Given the description of an element on the screen output the (x, y) to click on. 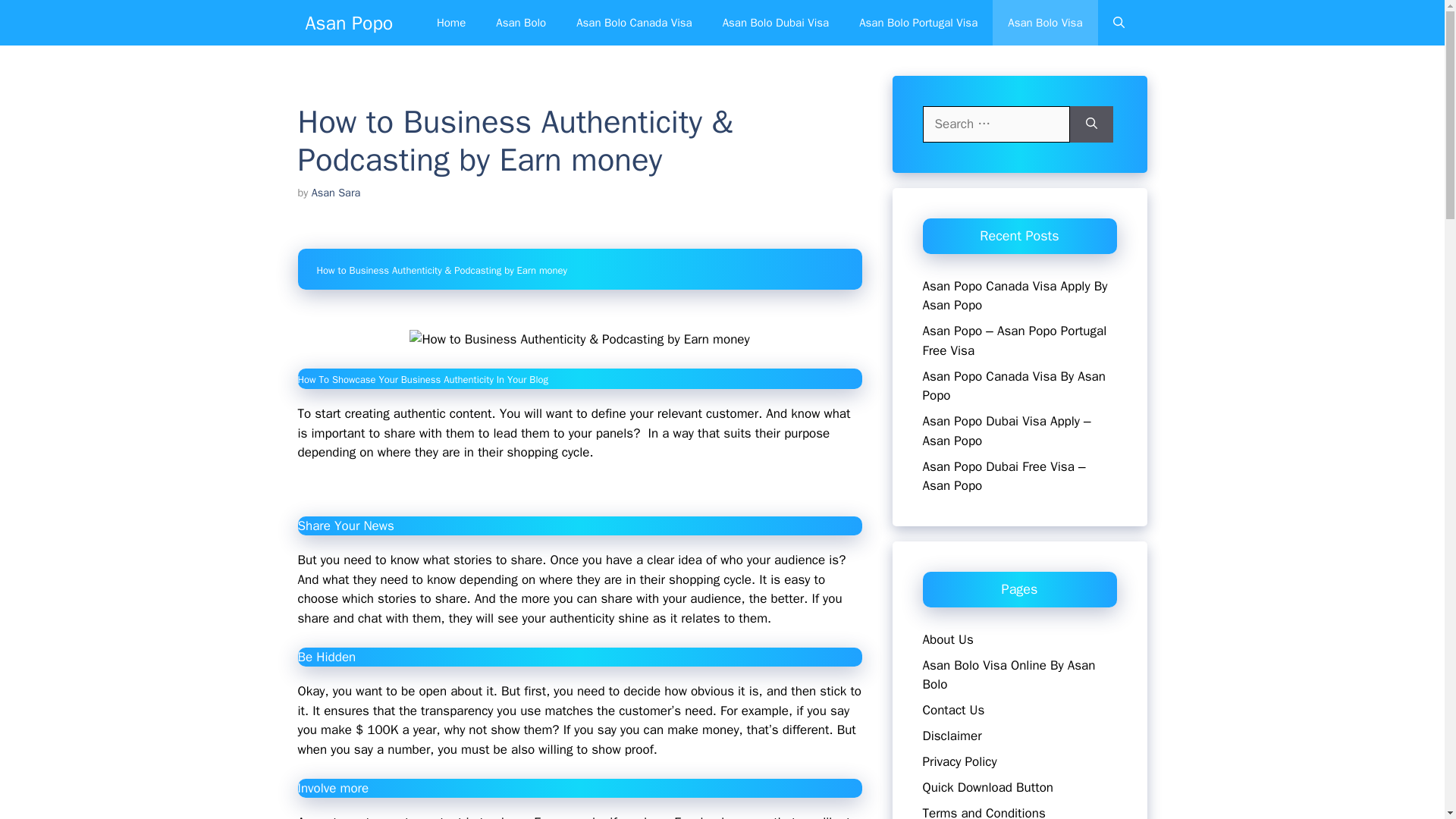
Asan Bolo Visa (1044, 22)
Search for: (994, 124)
Asan Bolo Dubai Visa (775, 22)
Asan Popo Canada Visa By Asan Popo (1013, 386)
View all posts by Asan Sara (336, 192)
Asan Bolo (520, 22)
Contact Us (952, 709)
Asan Bolo Portugal Visa (918, 22)
Asan Bolo Visa Online By Asan Bolo (1007, 674)
Terms and Conditions (983, 812)
Asan Popo Canada Visa Apply By Asan Popo (1013, 294)
Privacy Policy (958, 761)
About Us (946, 638)
Quick Download Button (986, 787)
Asan Popo (348, 22)
